Given the description of an element on the screen output the (x, y) to click on. 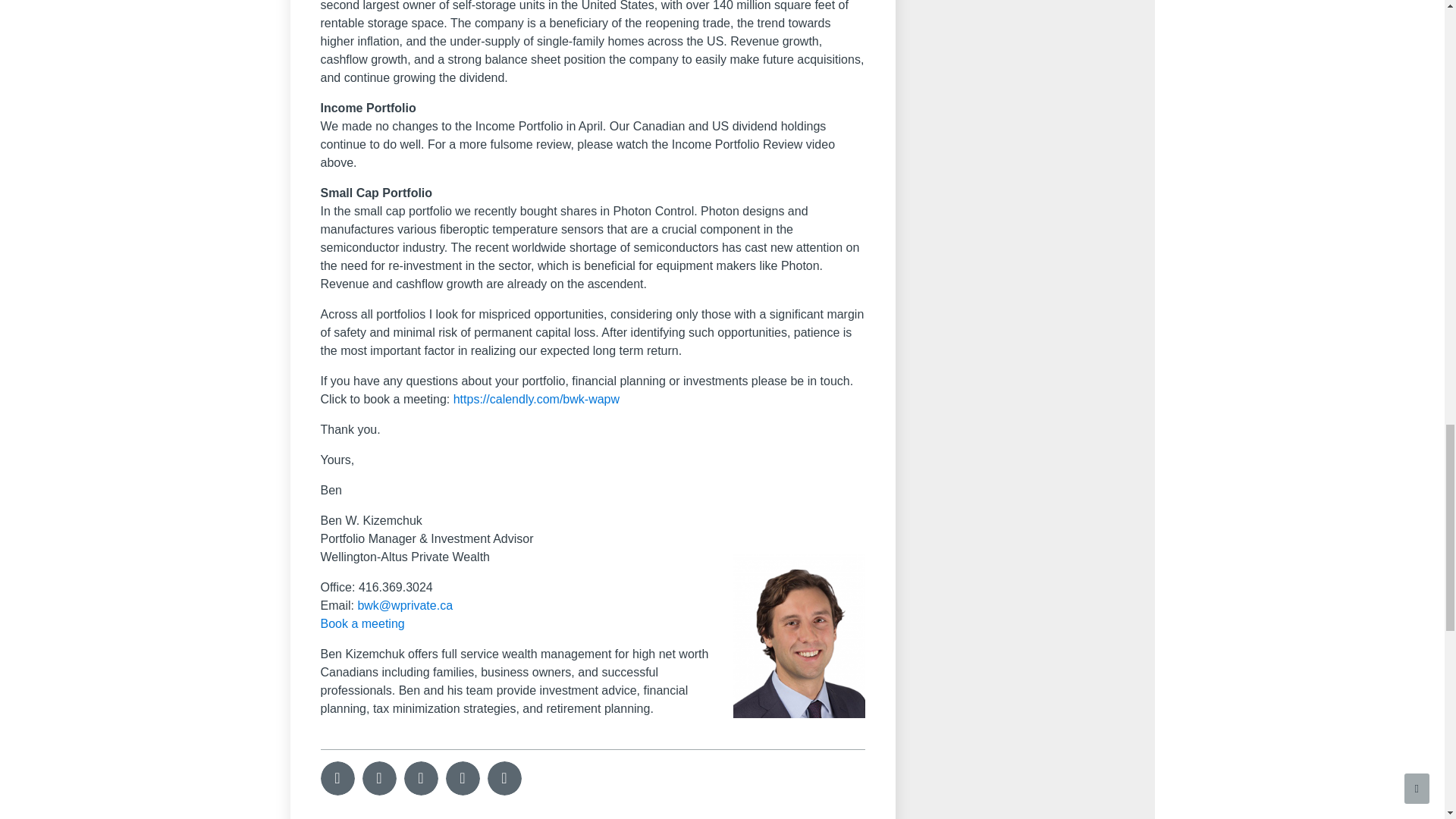
Book a meeting (362, 623)
